Given the description of an element on the screen output the (x, y) to click on. 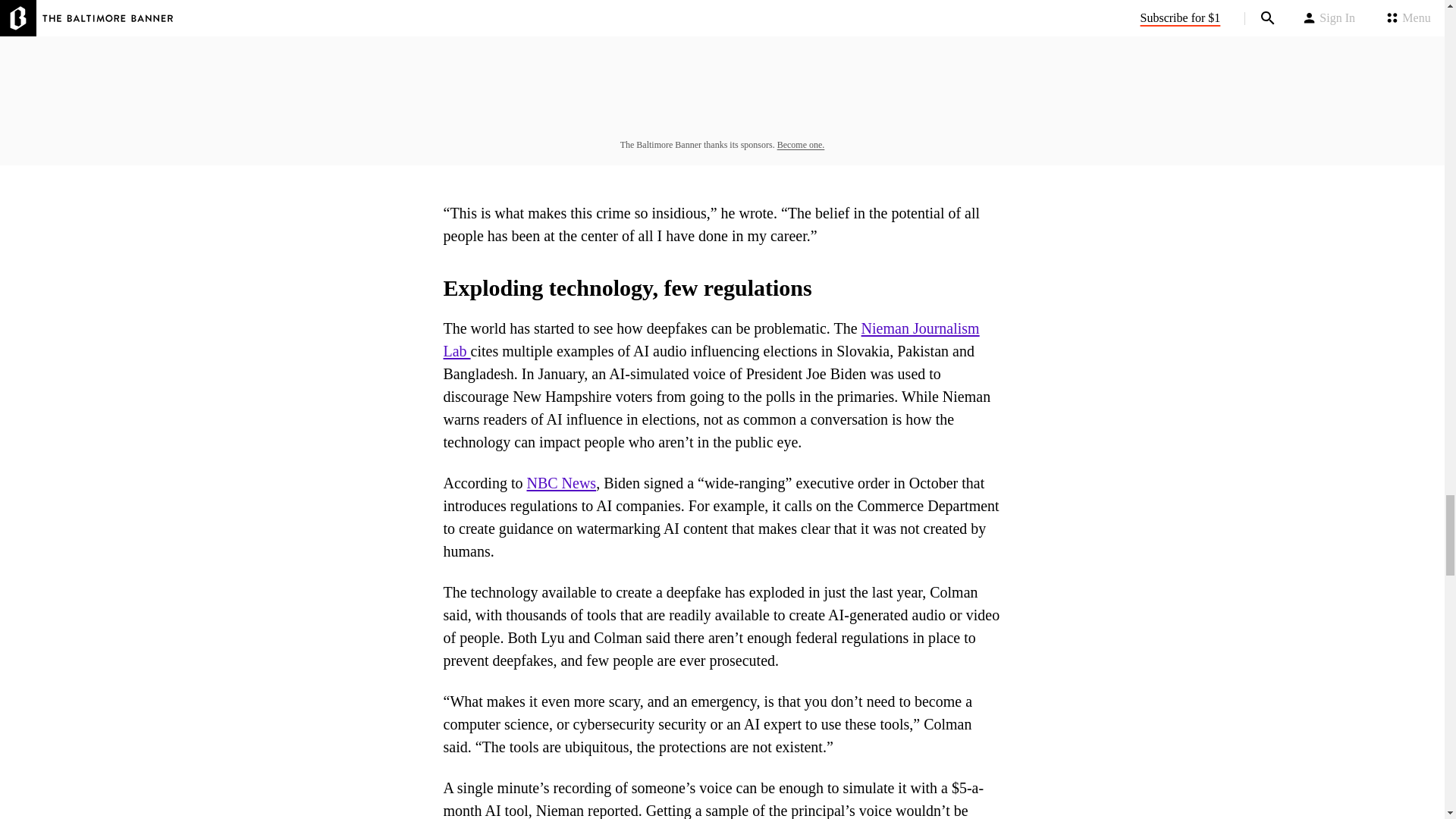
3rd party ad content (722, 63)
